Given the description of an element on the screen output the (x, y) to click on. 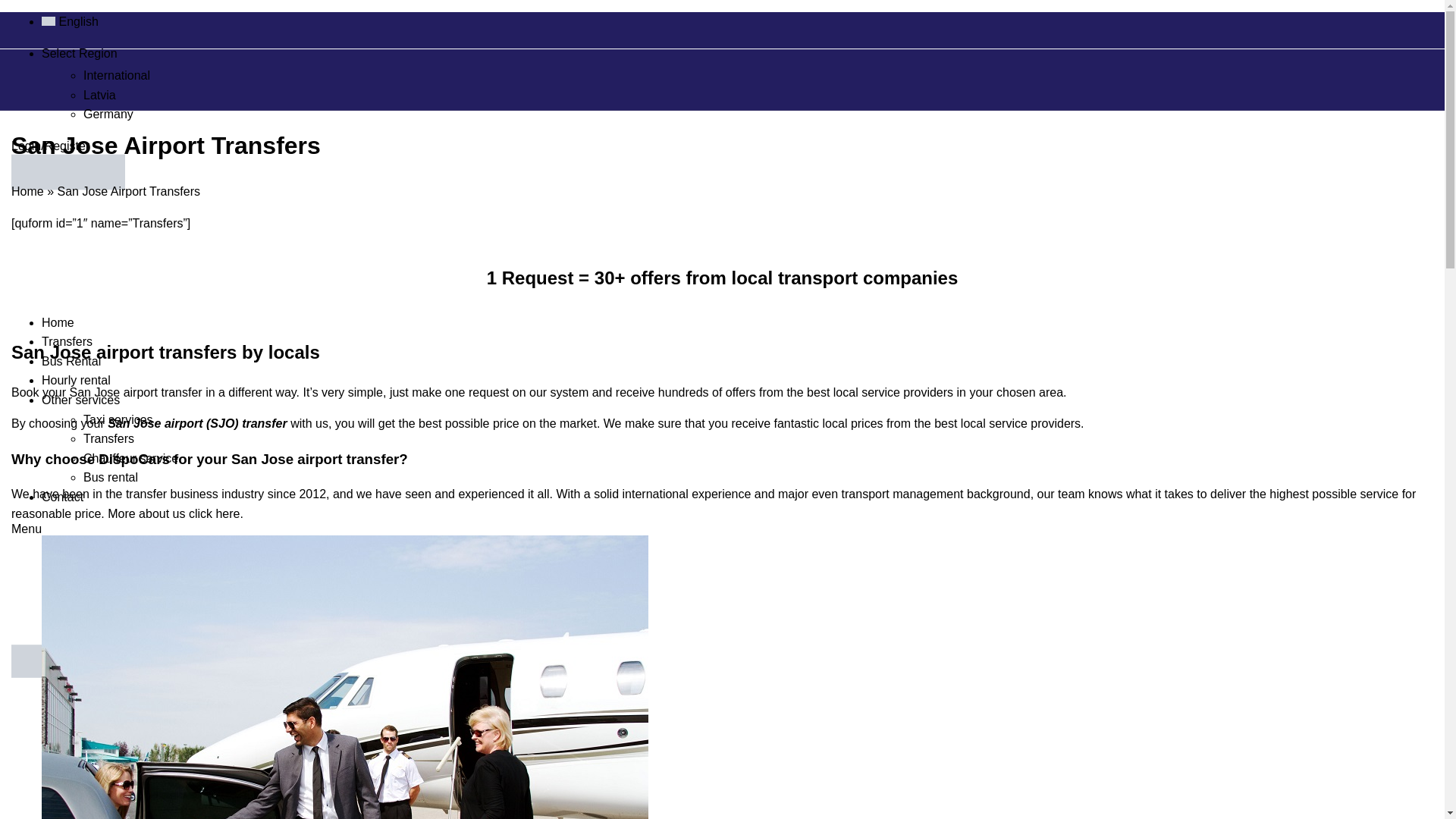
Home (58, 322)
International (115, 74)
Latvia (99, 94)
Home (27, 191)
Contact (62, 496)
Bus Rental (71, 360)
Menu (26, 528)
Bus rental (110, 477)
More about us click here. (175, 513)
Transfers (107, 438)
Select Region (79, 52)
Germany (107, 113)
English (70, 21)
Chauffeur service (129, 458)
